Given the description of an element on the screen output the (x, y) to click on. 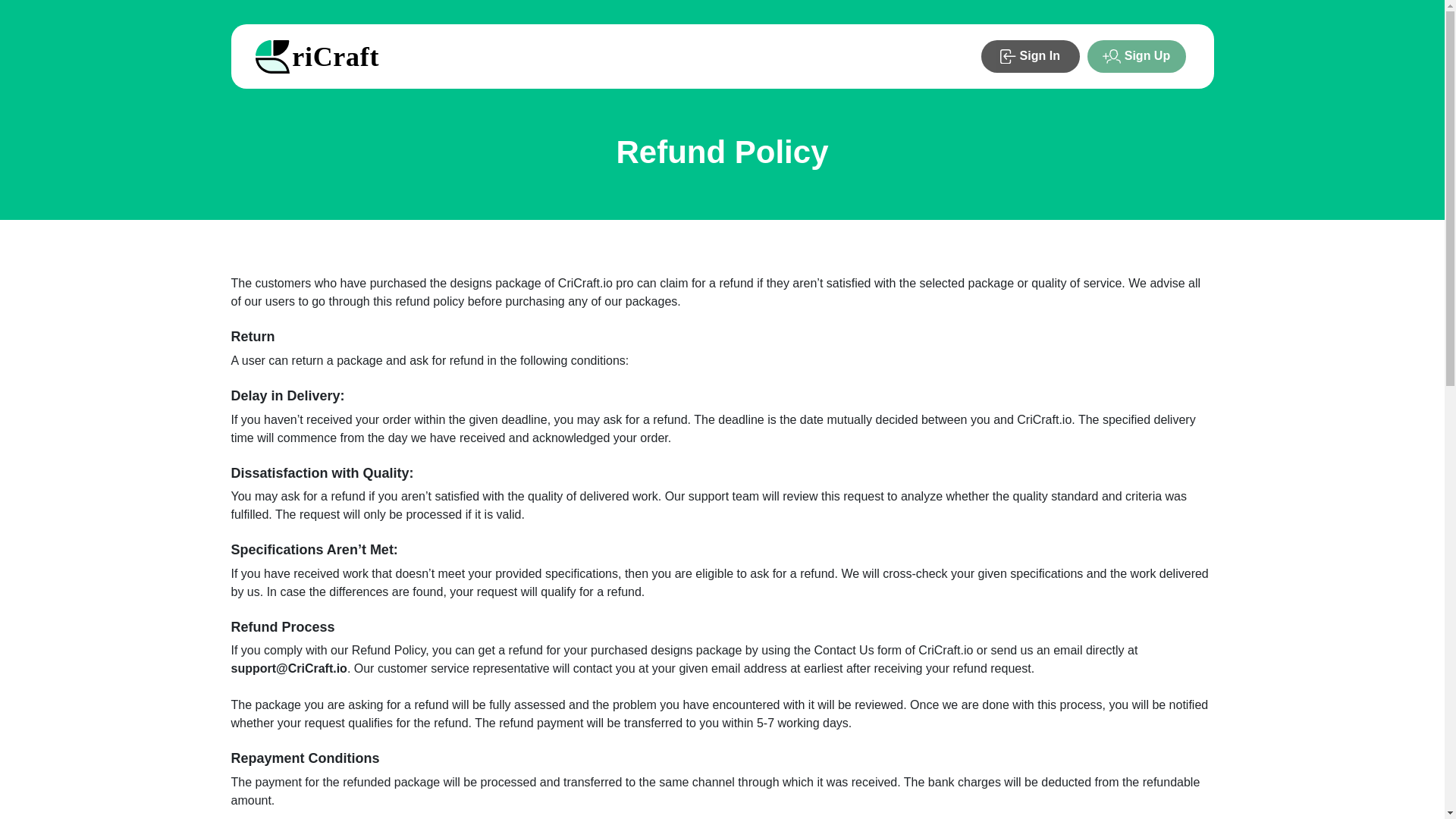
Sign Up (1136, 56)
Sign In (1029, 56)
Sign Up (1136, 56)
riCraft (320, 56)
Sign In (1030, 56)
riCraft (320, 56)
